Given the description of an element on the screen output the (x, y) to click on. 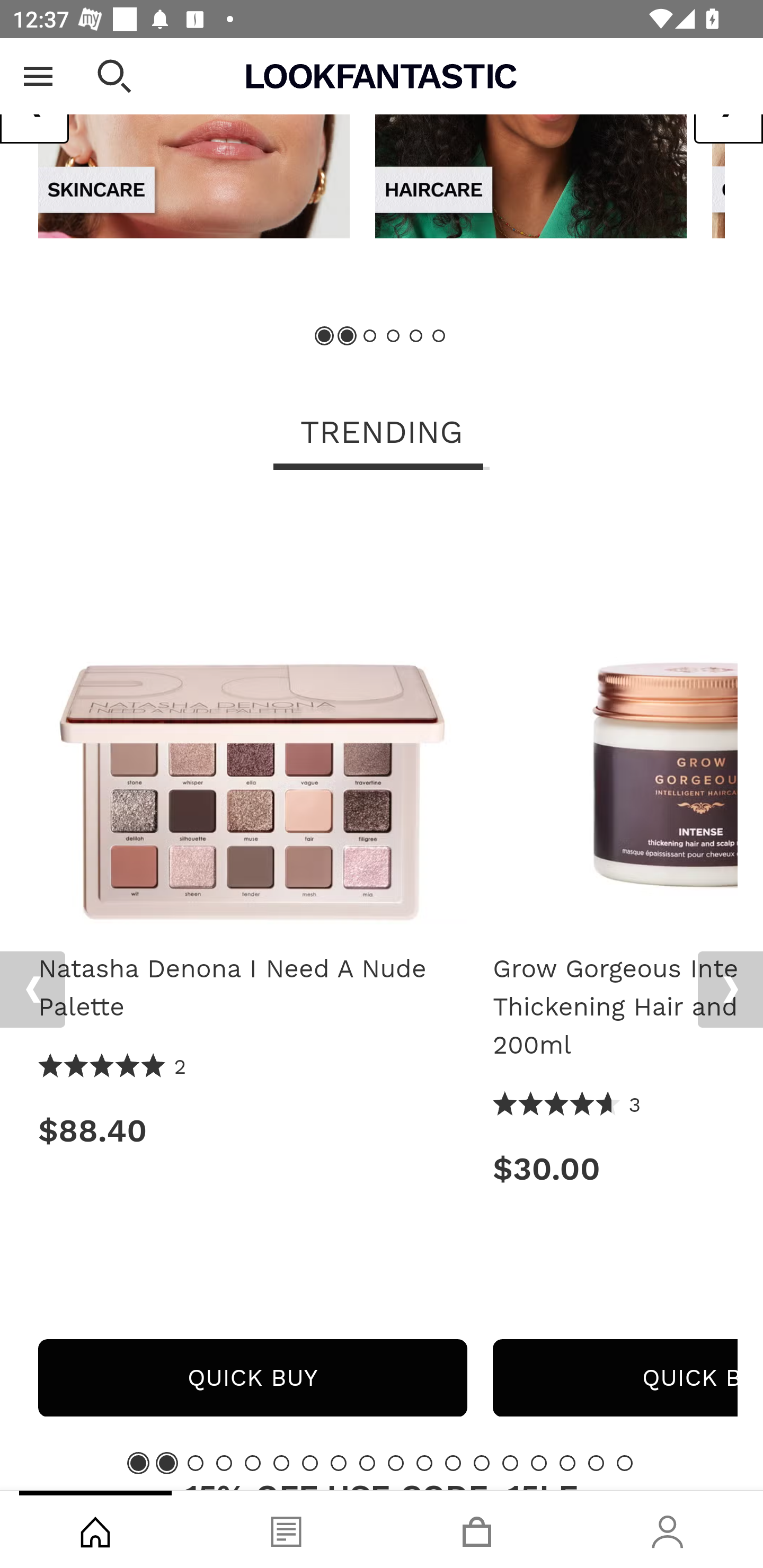
Showing Slide 1 (Current Item) (324, 336)
Showing Slide 2 (Current Item) (347, 336)
Slide 3 (369, 336)
Slide 4 (393, 336)
Slide 5 (415, 336)
Slide 6 (437, 336)
TRENDING (381, 433)
Natasha Denona I Need A Nude Palette (252, 715)
Natasha Denona I Need A Nude Palette (252, 987)
Previous (32, 989)
Next (730, 989)
5.0 Stars 2 Reviews (112, 1066)
4.67 Stars 3 Reviews (567, 1105)
Price: $88.40 (252, 1130)
Price: $30.00 (614, 1168)
QUICK BUY NATASHA DENONA I NEED A NUDE PALETTE (252, 1377)
Showing Slide 1 (Current Item) (138, 1462)
Showing Slide 2 (Current Item) (166, 1462)
Slide 3 (195, 1462)
Slide 4 (223, 1462)
Slide 5 (252, 1462)
Slide 6 (281, 1462)
Slide 7 (310, 1462)
Slide 8 (338, 1462)
Slide 9 (367, 1462)
Slide 10 (395, 1462)
Slide 11 (424, 1462)
Slide 12 (452, 1462)
Slide 13 (481, 1462)
Slide 14 (510, 1462)
Slide 15 (539, 1462)
Slide 16 (567, 1462)
Slide 17 (596, 1462)
Slide 18 (624, 1462)
Shop, tab, 1 of 4 (95, 1529)
Blog, tab, 2 of 4 (285, 1529)
Basket, tab, 3 of 4 (476, 1529)
Account, tab, 4 of 4 (667, 1529)
